Given the description of an element on the screen output the (x, y) to click on. 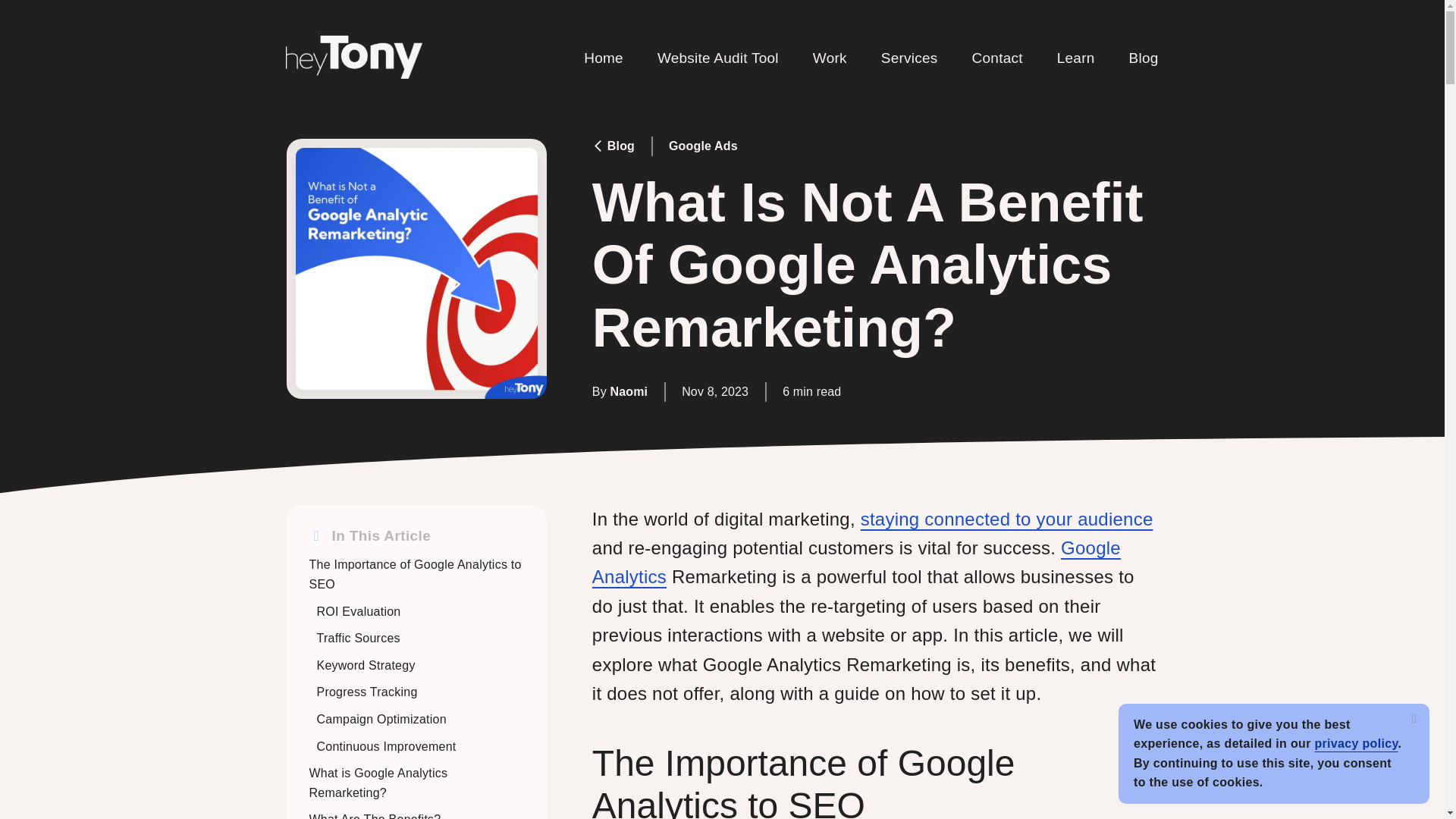
What Are The Benefits? (374, 816)
Home (603, 58)
ROI Evaluation  (360, 611)
Contact (997, 58)
Learn (1075, 58)
staying connected to your audience (1006, 518)
Google Analytics (856, 562)
Continuous Improvement  (388, 746)
In This Article (416, 535)
